Given the description of an element on the screen output the (x, y) to click on. 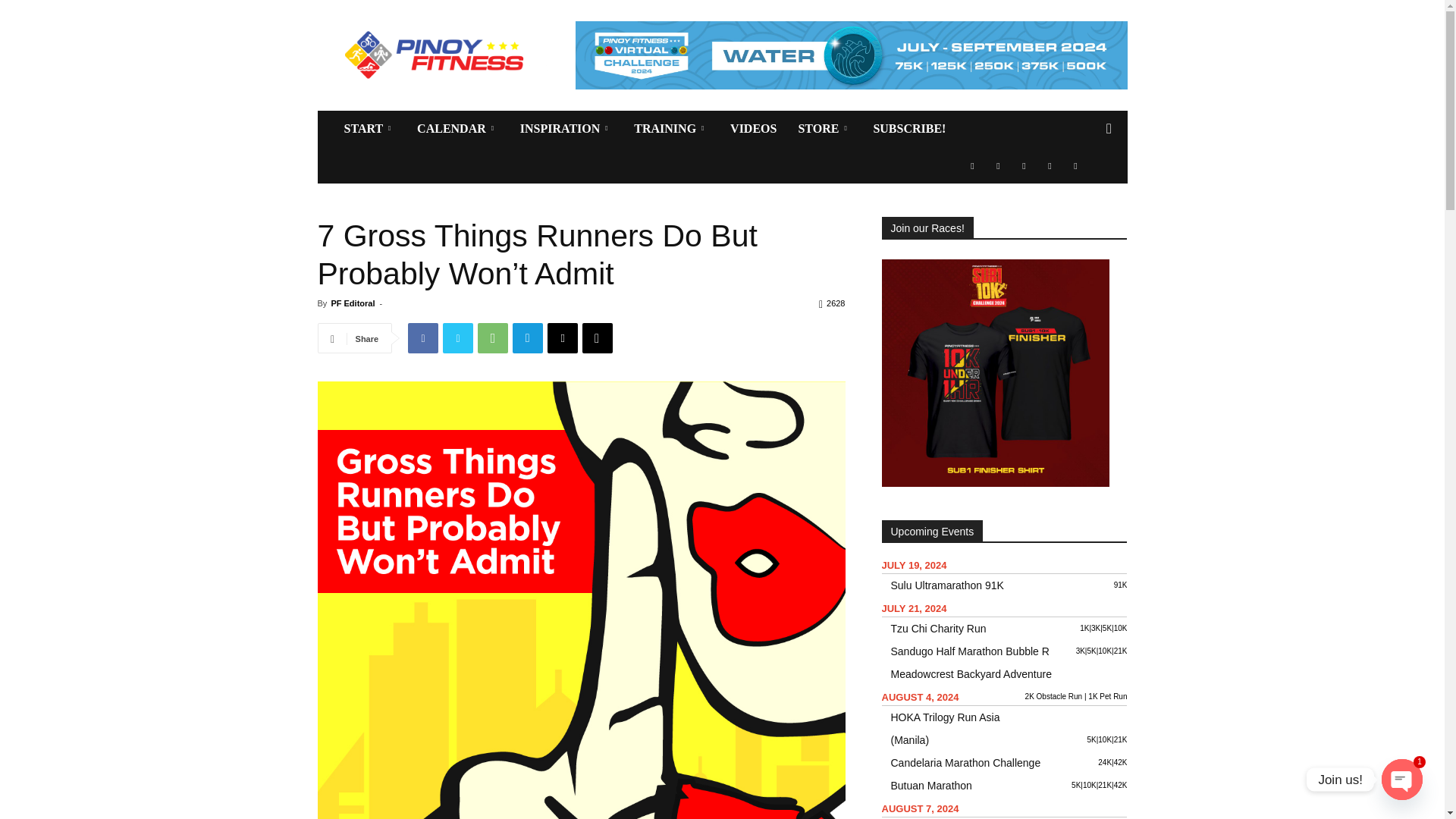
Twitter (457, 337)
WhatsApp (492, 337)
Facebook (422, 337)
Email (562, 337)
Telegram (527, 337)
